Given the description of an element on the screen output the (x, y) to click on. 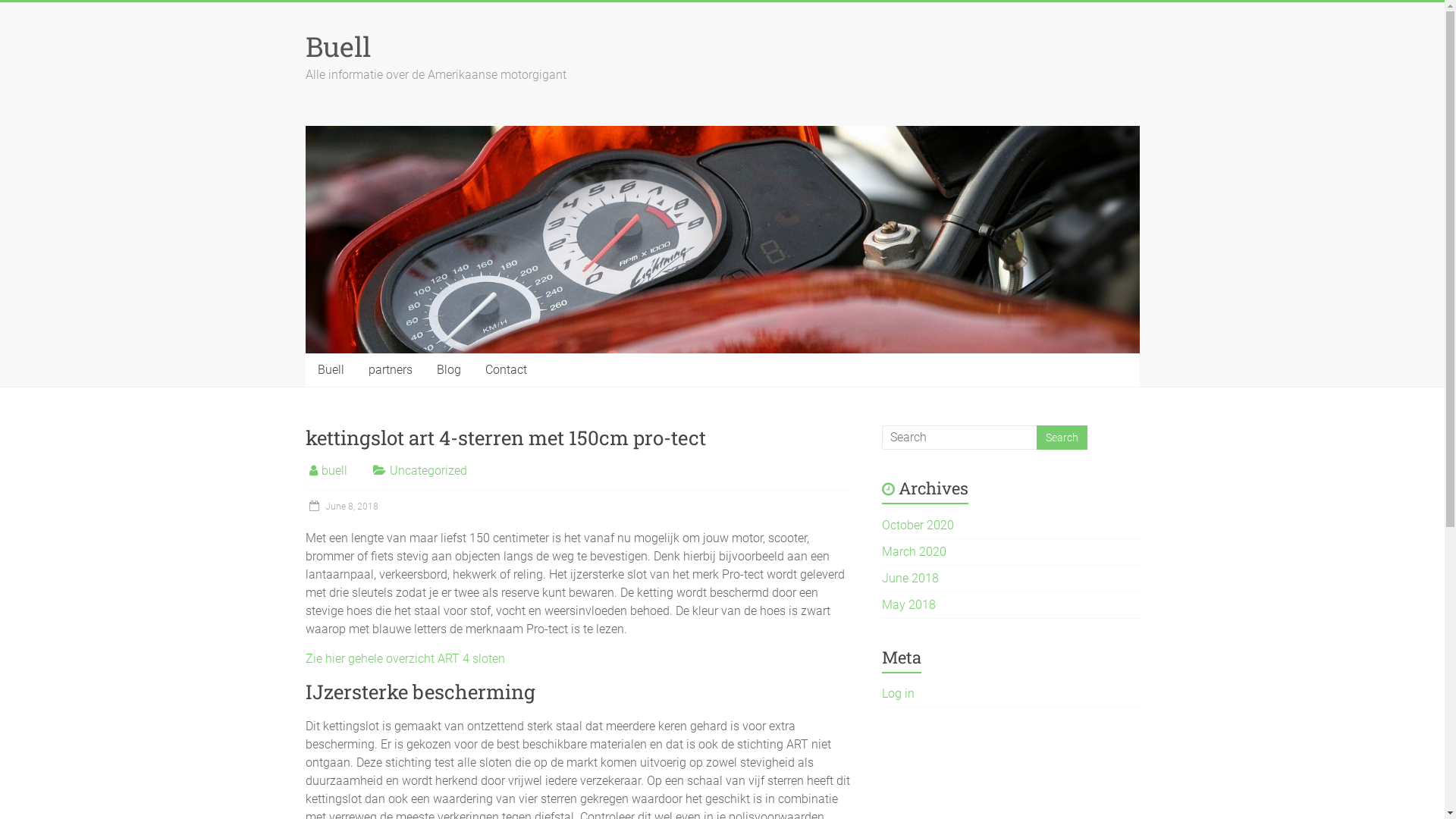
October 2020 Element type: text (917, 524)
Buell Element type: text (337, 46)
Log in Element type: text (897, 693)
Contact Element type: text (506, 369)
June 8, 2018 Element type: text (340, 506)
partners Element type: text (390, 369)
March 2020 Element type: text (913, 551)
buell Element type: text (334, 470)
Uncategorized Element type: text (428, 470)
Zie hier gehele overzicht ART 4 sloten Element type: text (404, 658)
June 2018 Element type: text (909, 578)
Blog Element type: text (448, 369)
Search Element type: text (1060, 437)
May 2018 Element type: text (908, 604)
Buell Element type: text (329, 369)
